Given the description of an element on the screen output the (x, y) to click on. 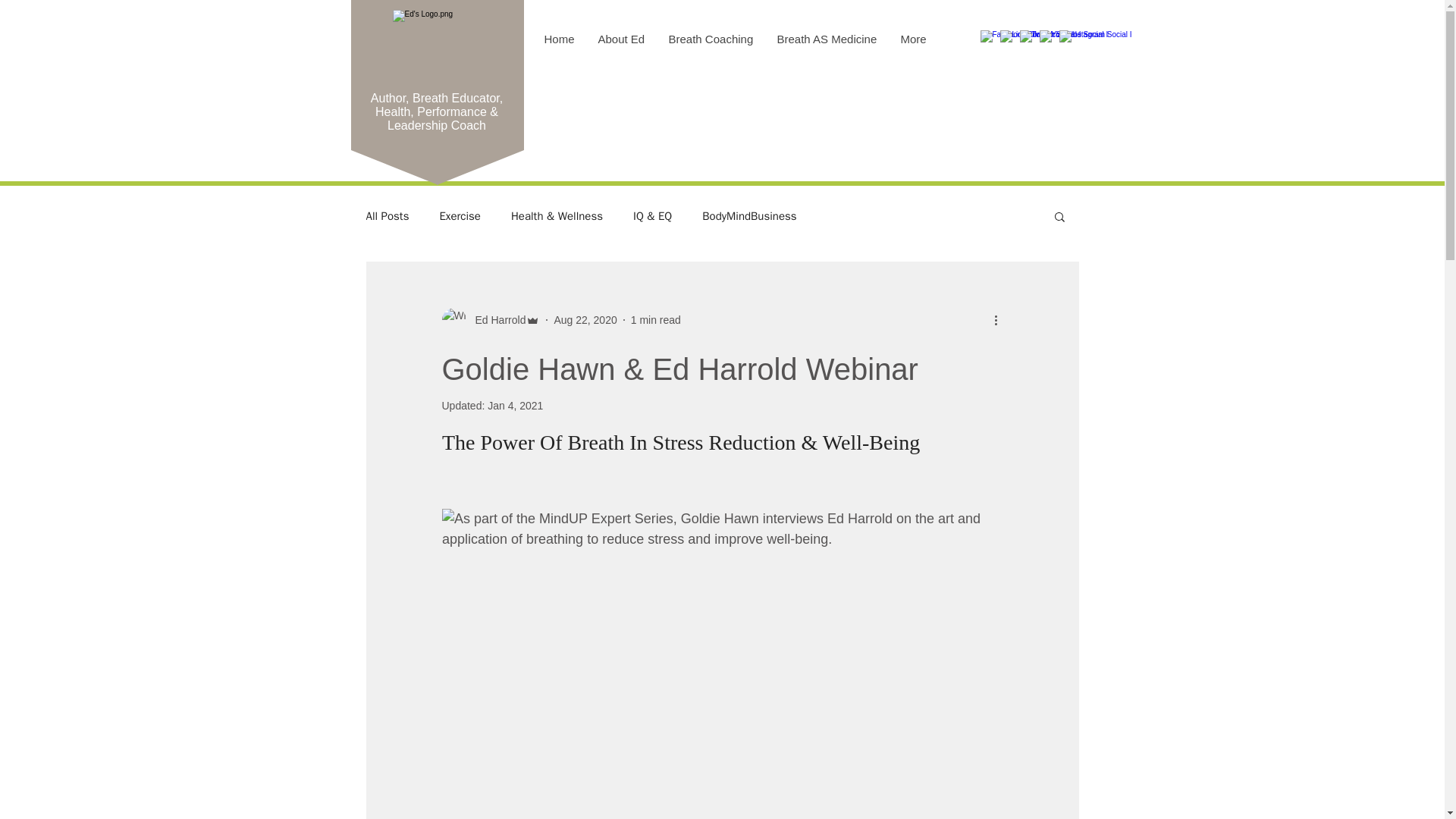
Breath Coaching (710, 38)
Breath AS Medicine (826, 38)
Exercise (459, 216)
BodyMindBusiness (748, 216)
Home (558, 38)
Ed Harrold (495, 320)
Aug 22, 2020 (584, 319)
1 min read (655, 319)
Ed Harrold (490, 319)
All Posts (387, 216)
